Given the description of an element on the screen output the (x, y) to click on. 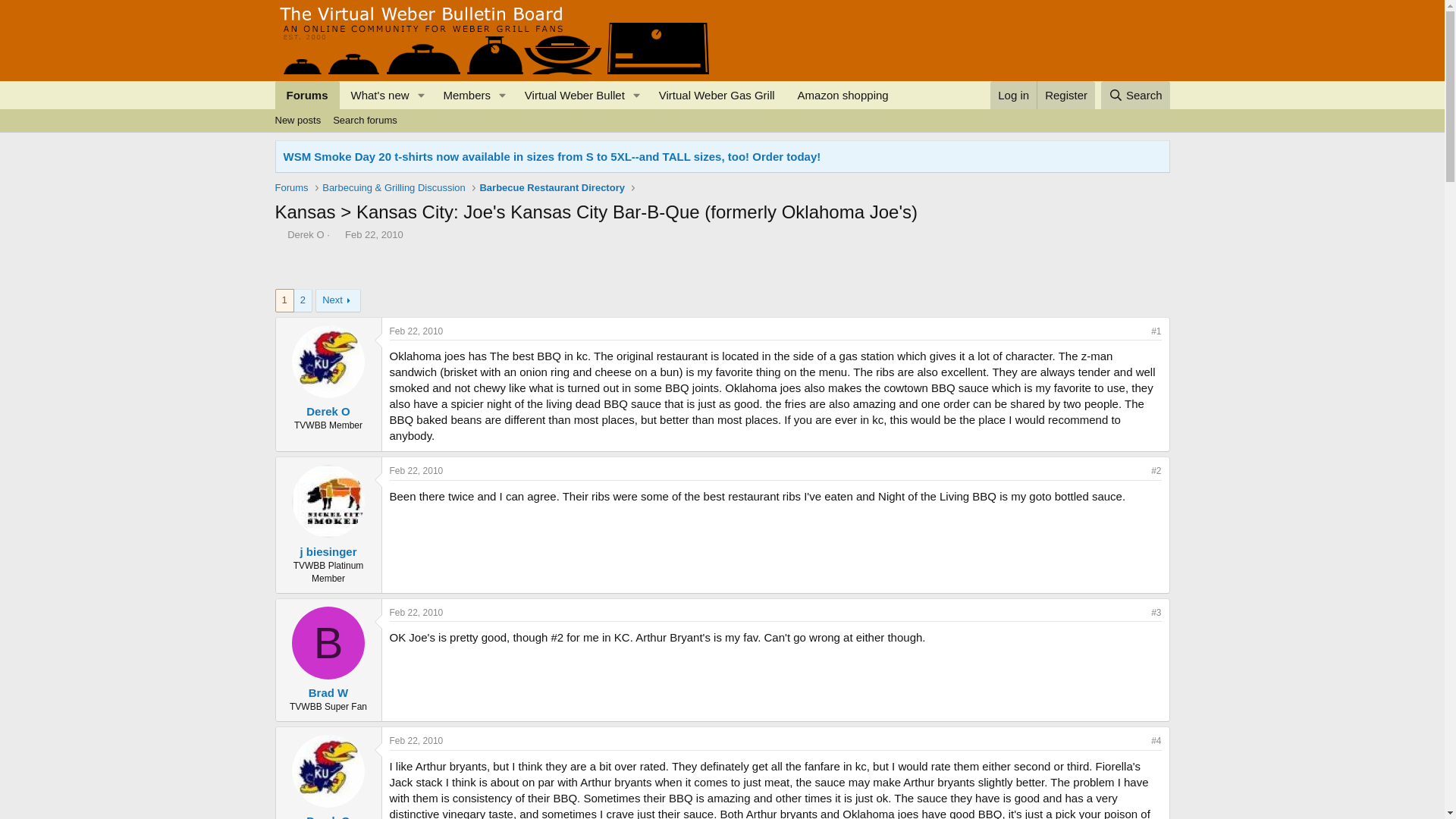
Forums (307, 94)
Feb 22, 2010 at 5:36 PM (417, 612)
New posts (296, 119)
Feb 22, 2010 at 4:35 PM (374, 234)
Search (1135, 94)
Members (461, 94)
Virtual Weber Bullet (720, 137)
Log in (569, 94)
Feb 22, 2010 at 5:09 PM (1013, 94)
Feb 22, 2010 at 7:30 PM (417, 470)
Start date (417, 740)
Virtual Weber Gas Grill (336, 234)
